Given the description of an element on the screen output the (x, y) to click on. 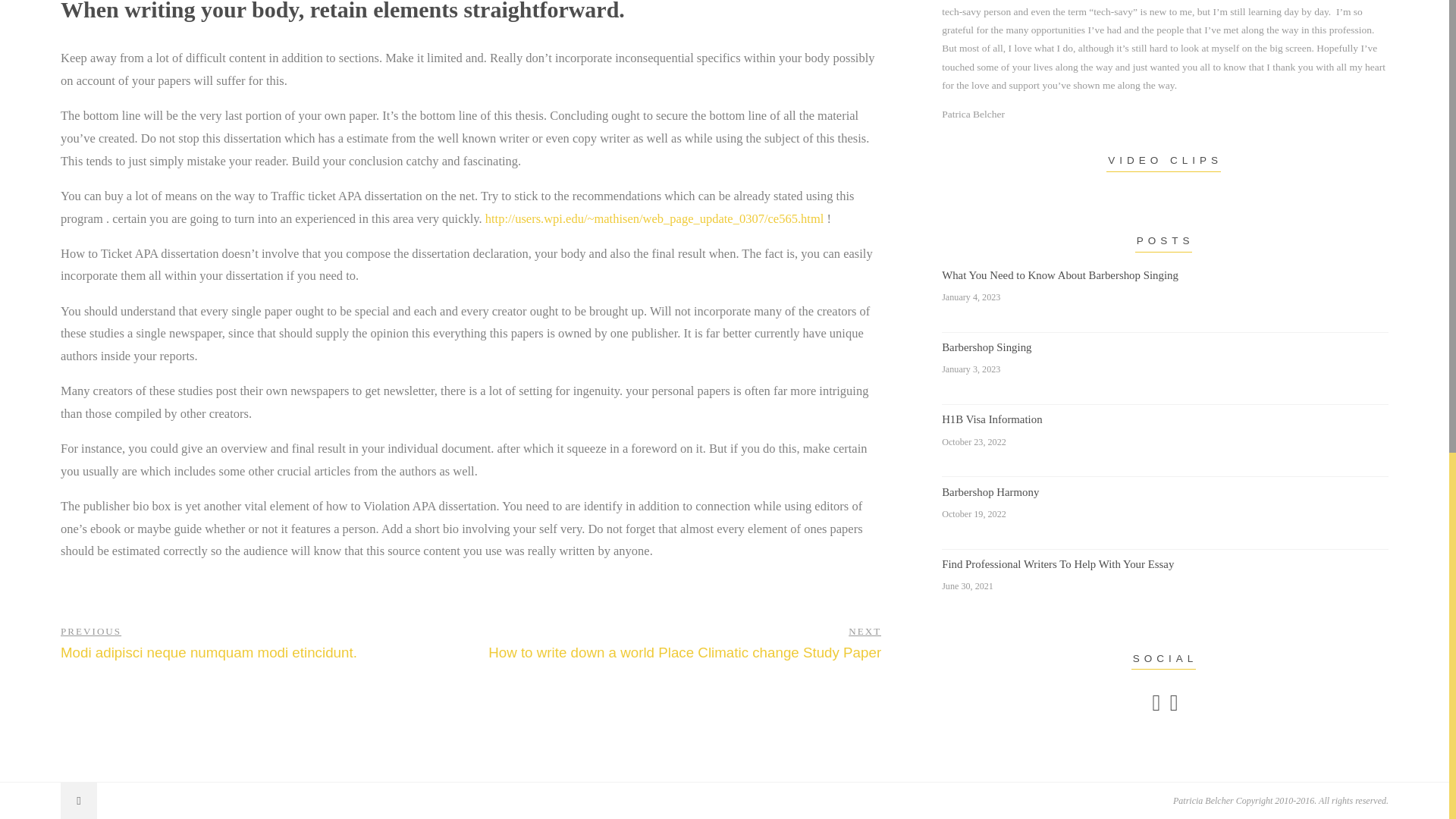
Modi adipisci neque numquam modi etincidunt. (1165, 440)
How to write down a world Place Climatic change Study Paper (1165, 368)
